Given the description of an element on the screen output the (x, y) to click on. 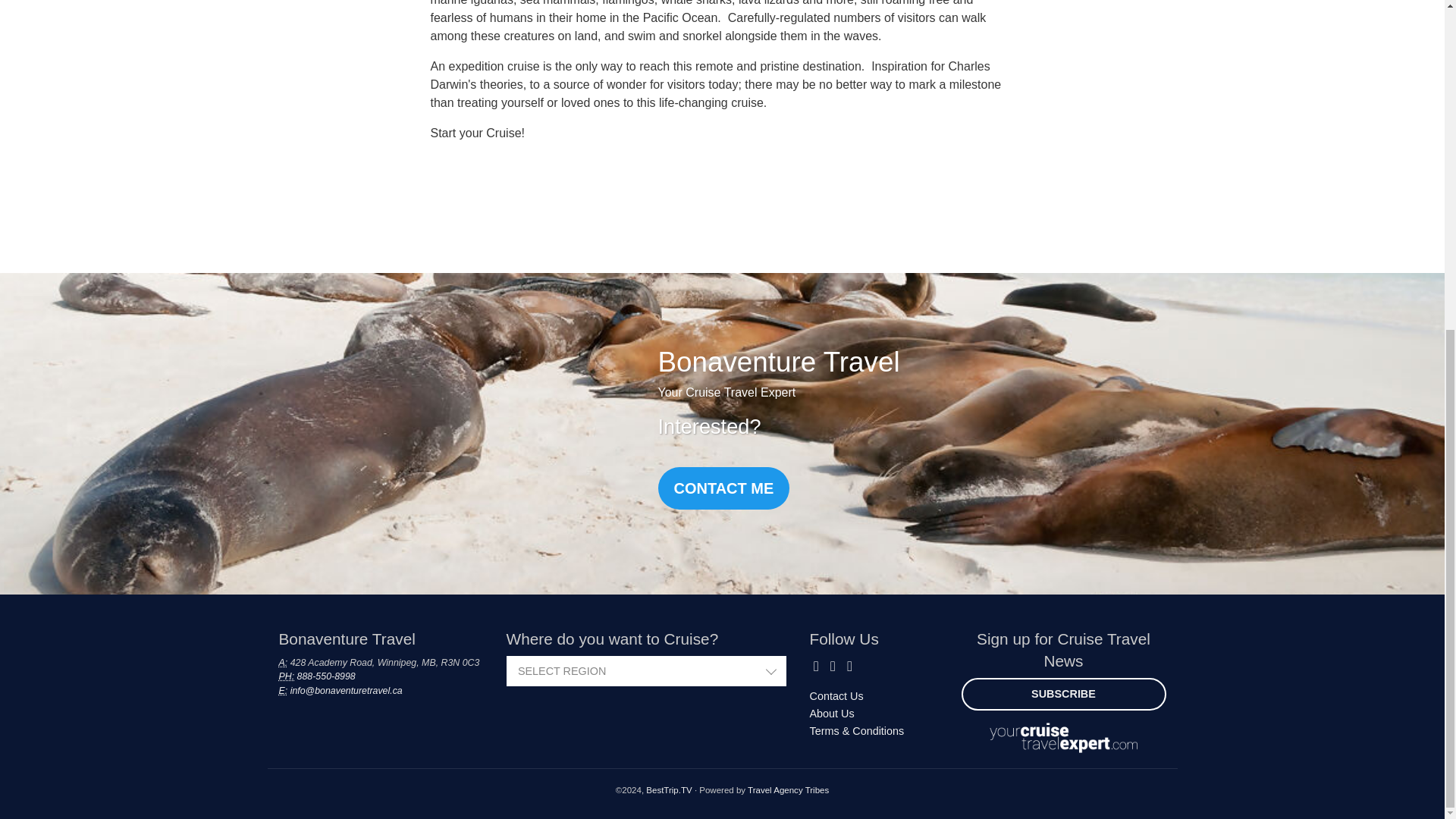
CONTACT ME (724, 487)
Phone (287, 675)
888-550-8998 (326, 675)
SELECT REGION (646, 671)
